Given the description of an element on the screen output the (x, y) to click on. 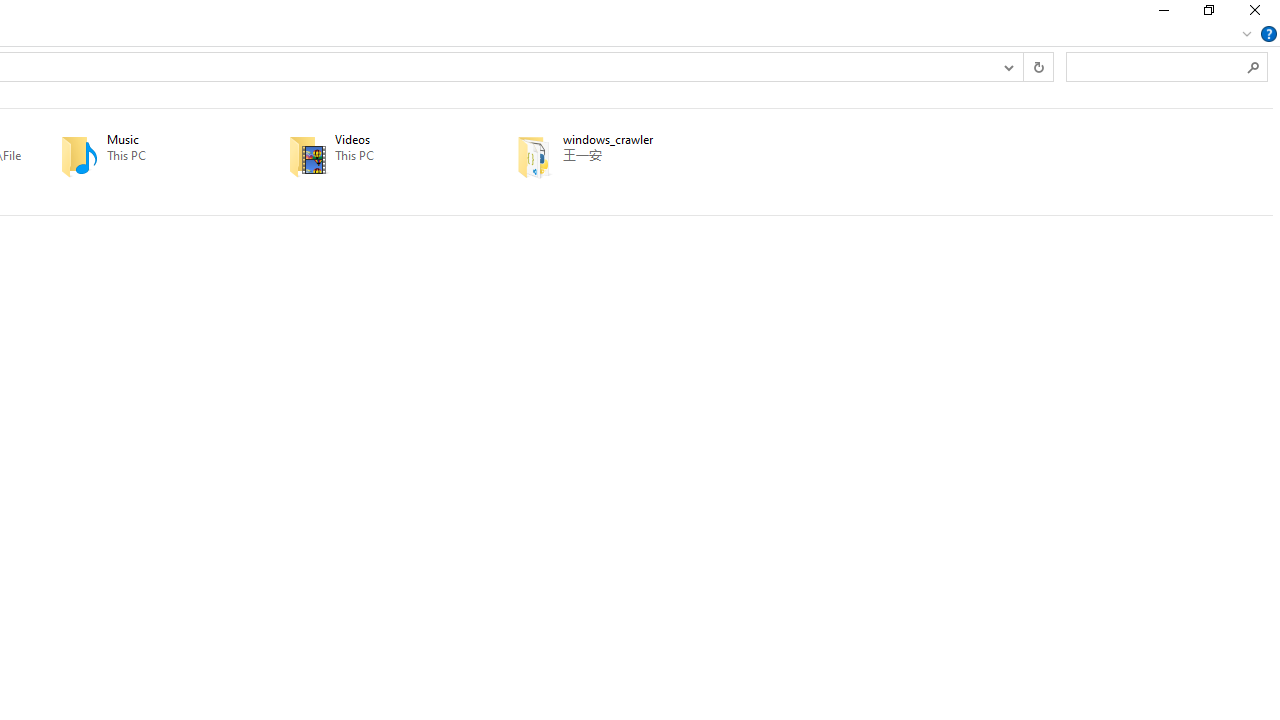
Pinned (635, 170)
